Given the description of an element on the screen output the (x, y) to click on. 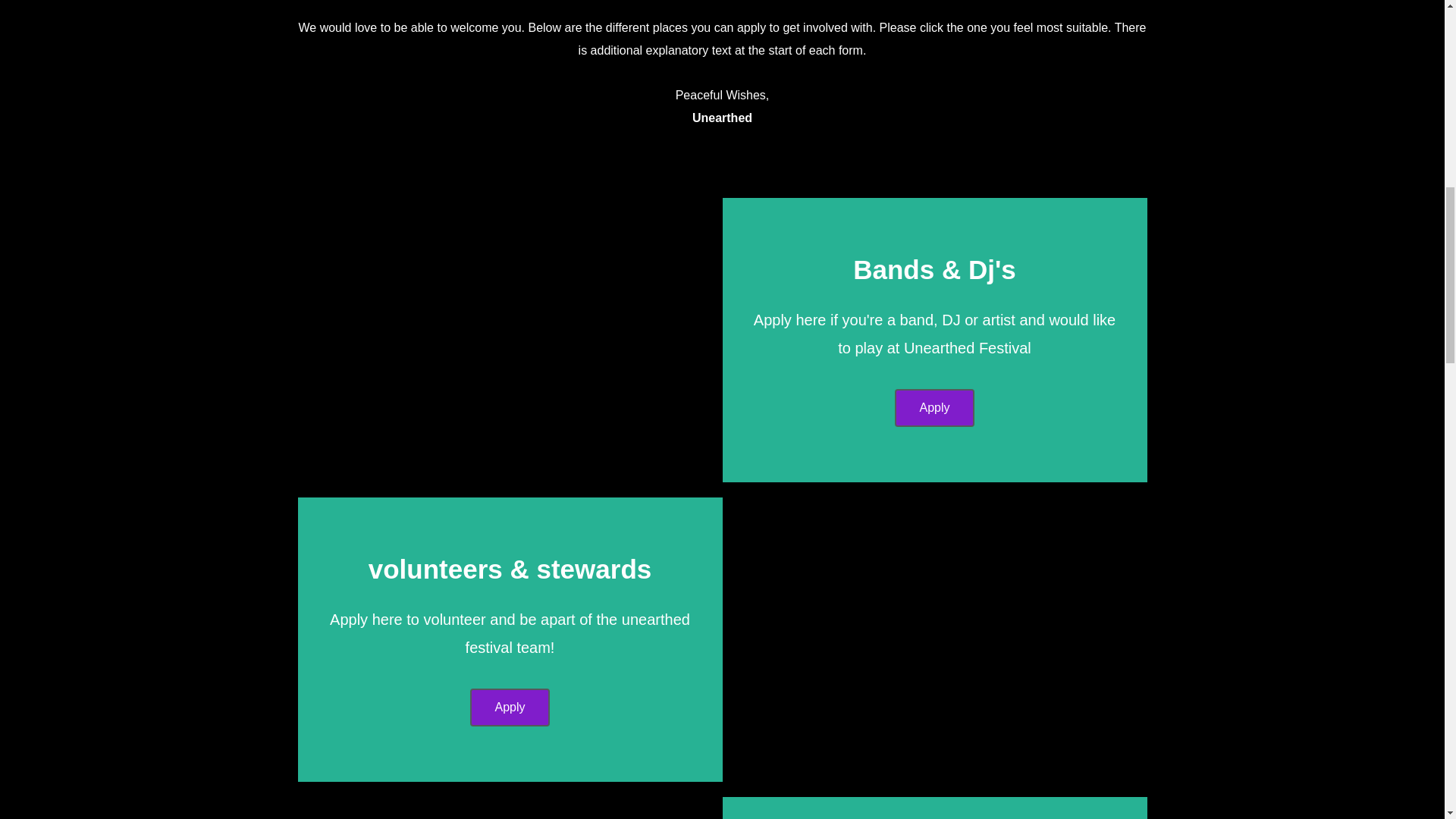
Apply (509, 707)
Apply (934, 407)
